Given the description of an element on the screen output the (x, y) to click on. 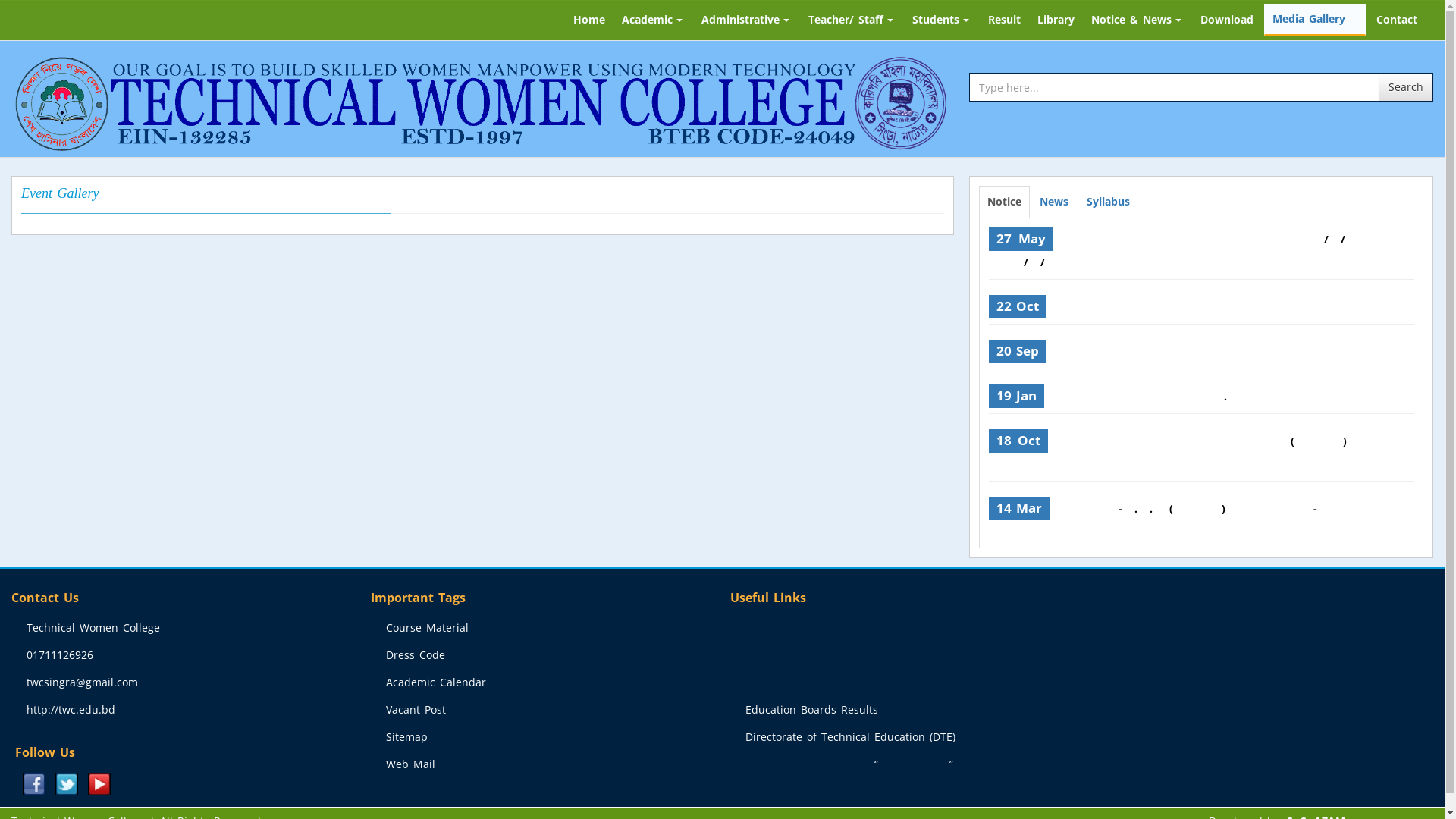
TECHNICAL WOMEN COLLEGE Element type: hover (482, 100)
Twitter Element type: hover (66, 782)
Students Element type: text (941, 19)
Syllabus Element type: text (1108, 201)
Directorate of Technical Education (DTE) Element type: text (849, 736)
Facebook Element type: hover (33, 782)
Web Mail Element type: text (410, 763)
twcsingra@gmail.com Element type: text (82, 681)
Notice & News Element type: text (1137, 19)
Administrative Element type: text (746, 19)
Search Element type: text (1405, 86)
Notice Element type: text (1004, 201)
Course Material Element type: text (426, 627)
Home Element type: text (588, 19)
Education Boards Results Element type: text (810, 709)
Media Gallery Element type: text (1314, 19)
Academic Element type: text (653, 19)
Result Element type: text (1004, 19)
Sitemap Element type: text (406, 736)
Dress Code Element type: text (415, 654)
Download Element type: text (1226, 19)
Teacher/ Staff Element type: text (851, 19)
Vacant Post Element type: text (415, 709)
Academic Calendar Element type: text (435, 681)
Contact Element type: text (1396, 19)
http://twc.edu.bd Element type: text (70, 709)
YouTube Element type: hover (98, 782)
Library Element type: text (1055, 19)
News Element type: text (1053, 201)
